Given the description of an element on the screen output the (x, y) to click on. 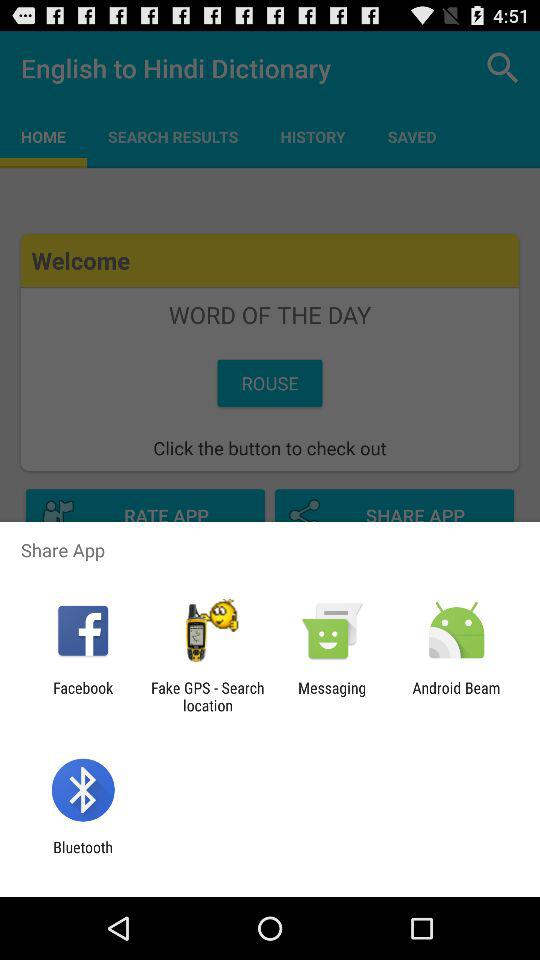
choose the messaging (332, 696)
